Given the description of an element on the screen output the (x, y) to click on. 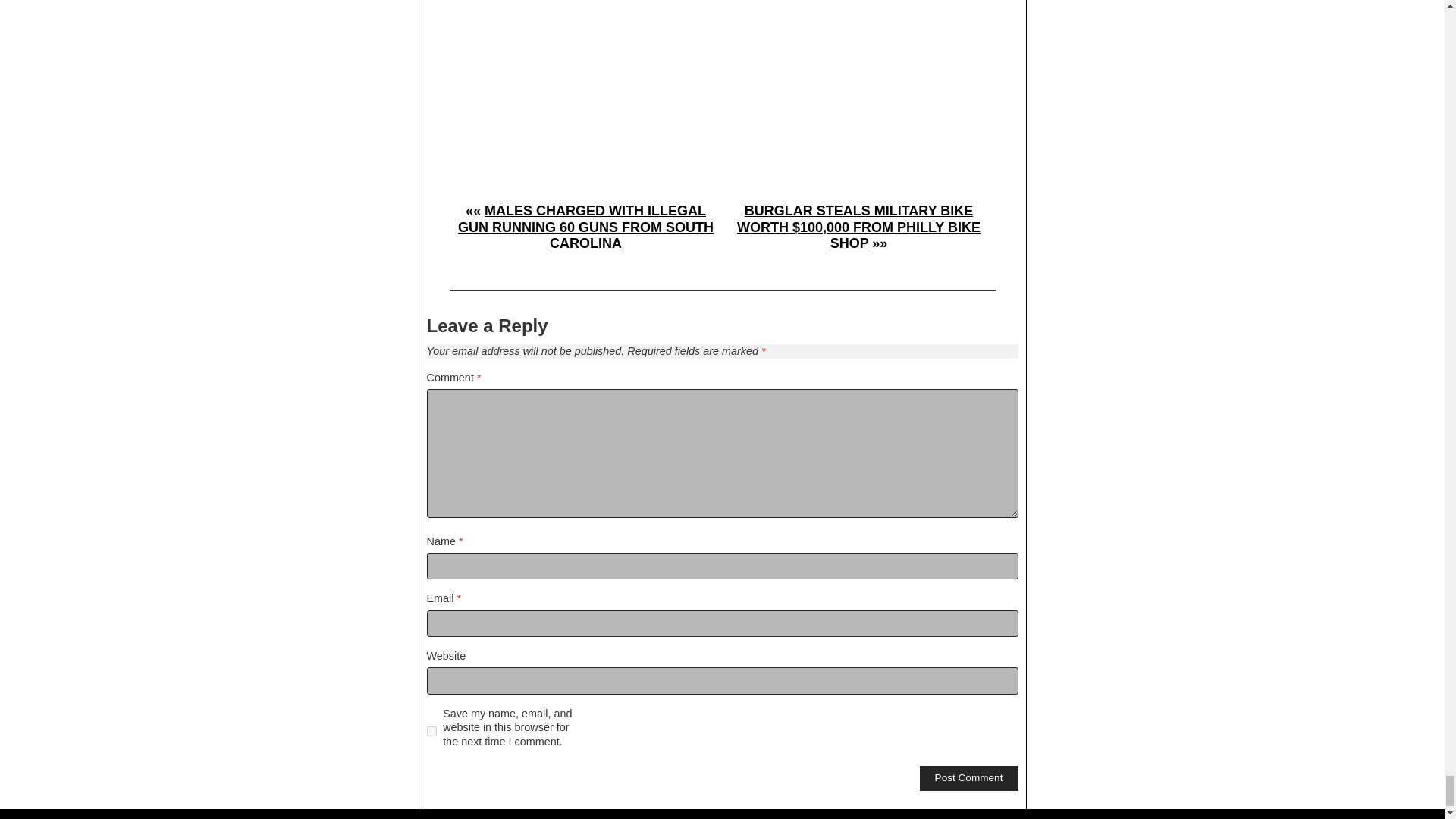
Post Comment (968, 778)
Post Comment (968, 778)
